Given the description of an element on the screen output the (x, y) to click on. 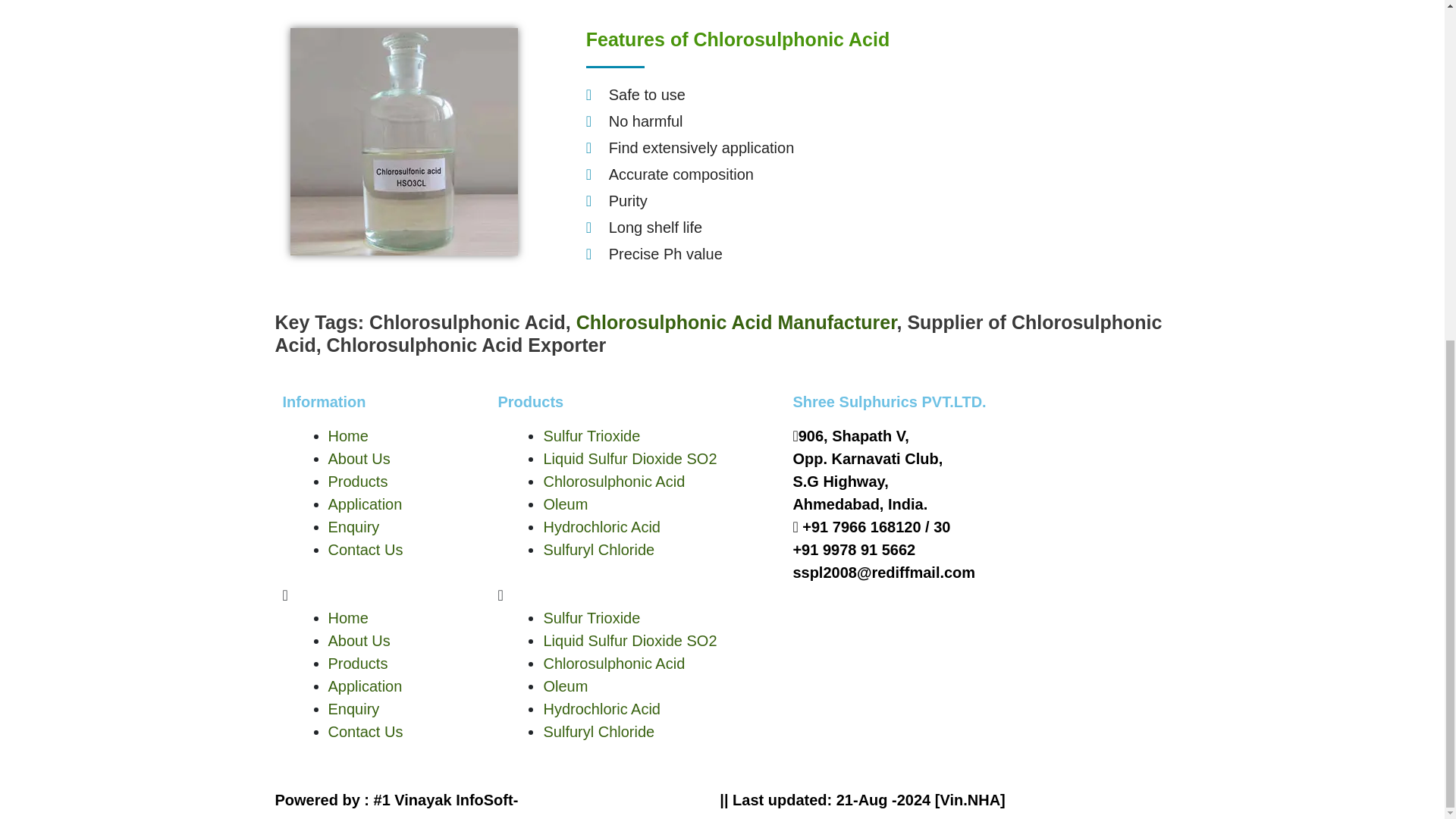
Enquiry (352, 526)
About Us (358, 458)
Products (357, 481)
Chlorosulphonic Acid Manufacturer (736, 322)
Application (364, 504)
Home (347, 435)
